Given the description of an element on the screen output the (x, y) to click on. 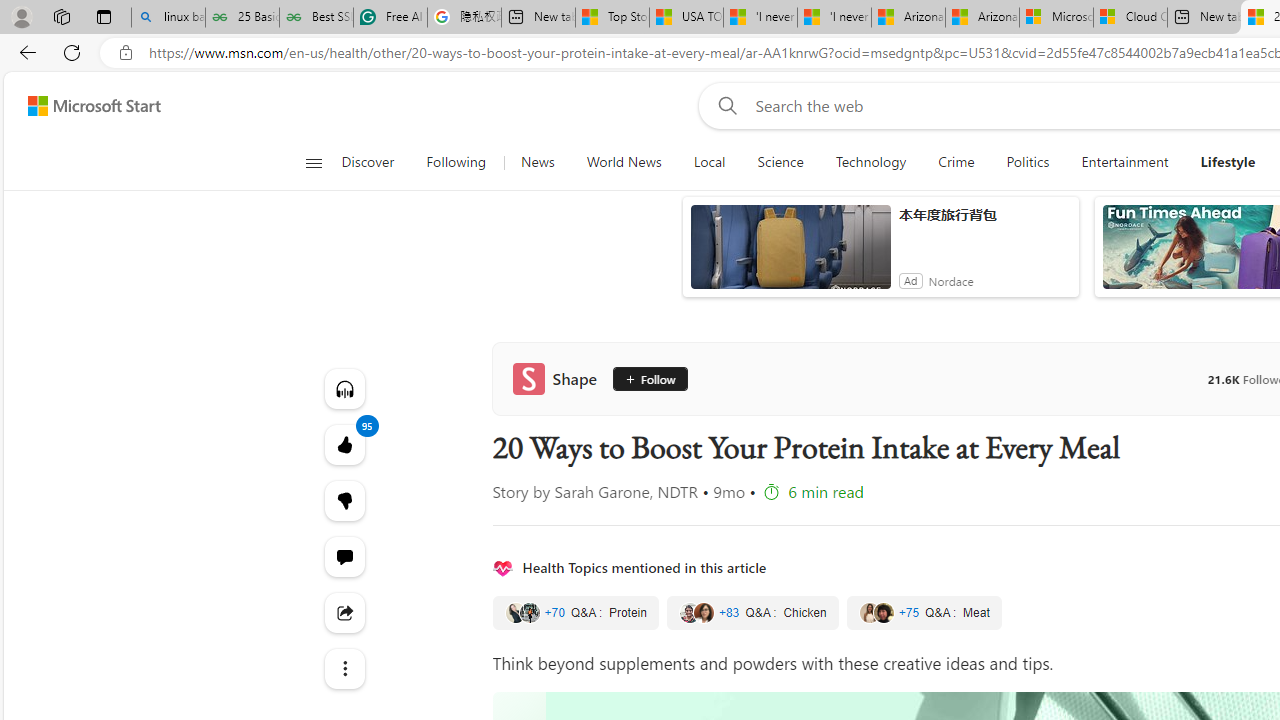
95 Like (343, 444)
anim-content (789, 255)
linux basic - Search (167, 17)
Free AI Writing Assistance for Students | Grammarly (390, 17)
Class: quote-thumbnail (882, 612)
